Given the description of an element on the screen output the (x, y) to click on. 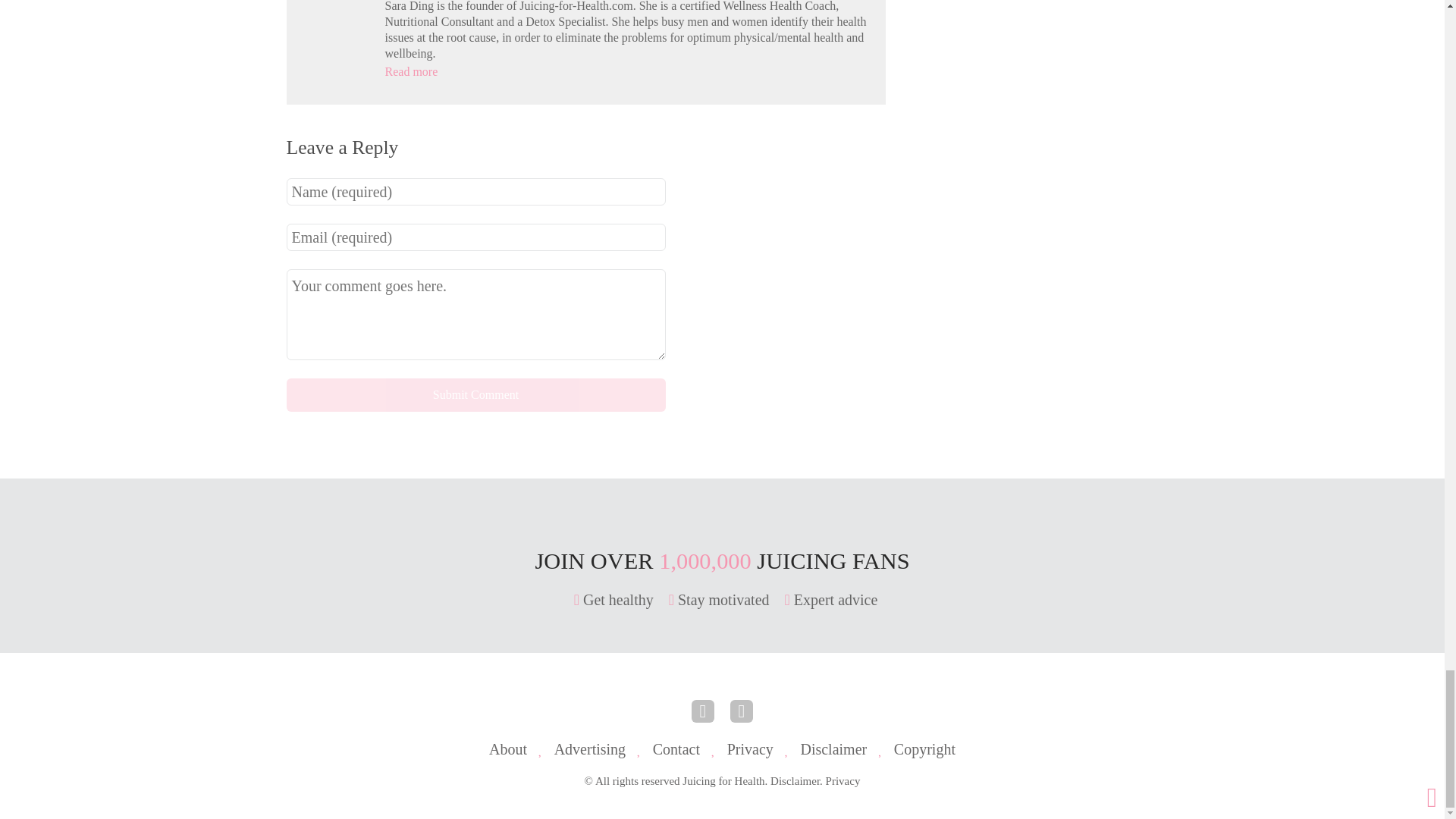
Submit Comment (475, 394)
